Given the description of an element on the screen output the (x, y) to click on. 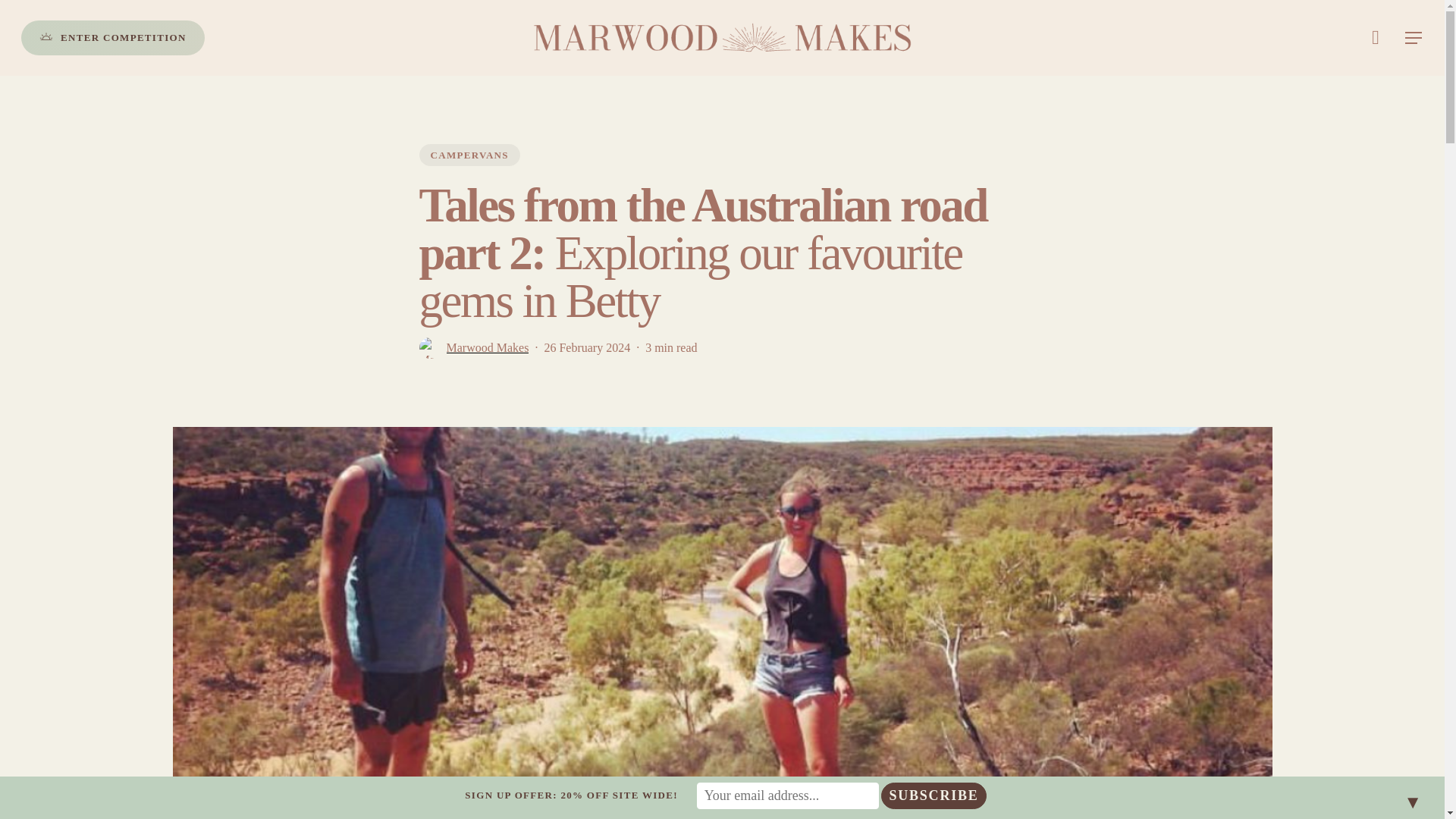
CAMPERVANS (469, 157)
Marwood Makes (486, 356)
Subscribe (932, 795)
Posts by Marwood Makes (486, 347)
Menu (1414, 37)
ENTER COMPETITION (113, 37)
